Given the description of an element on the screen output the (x, y) to click on. 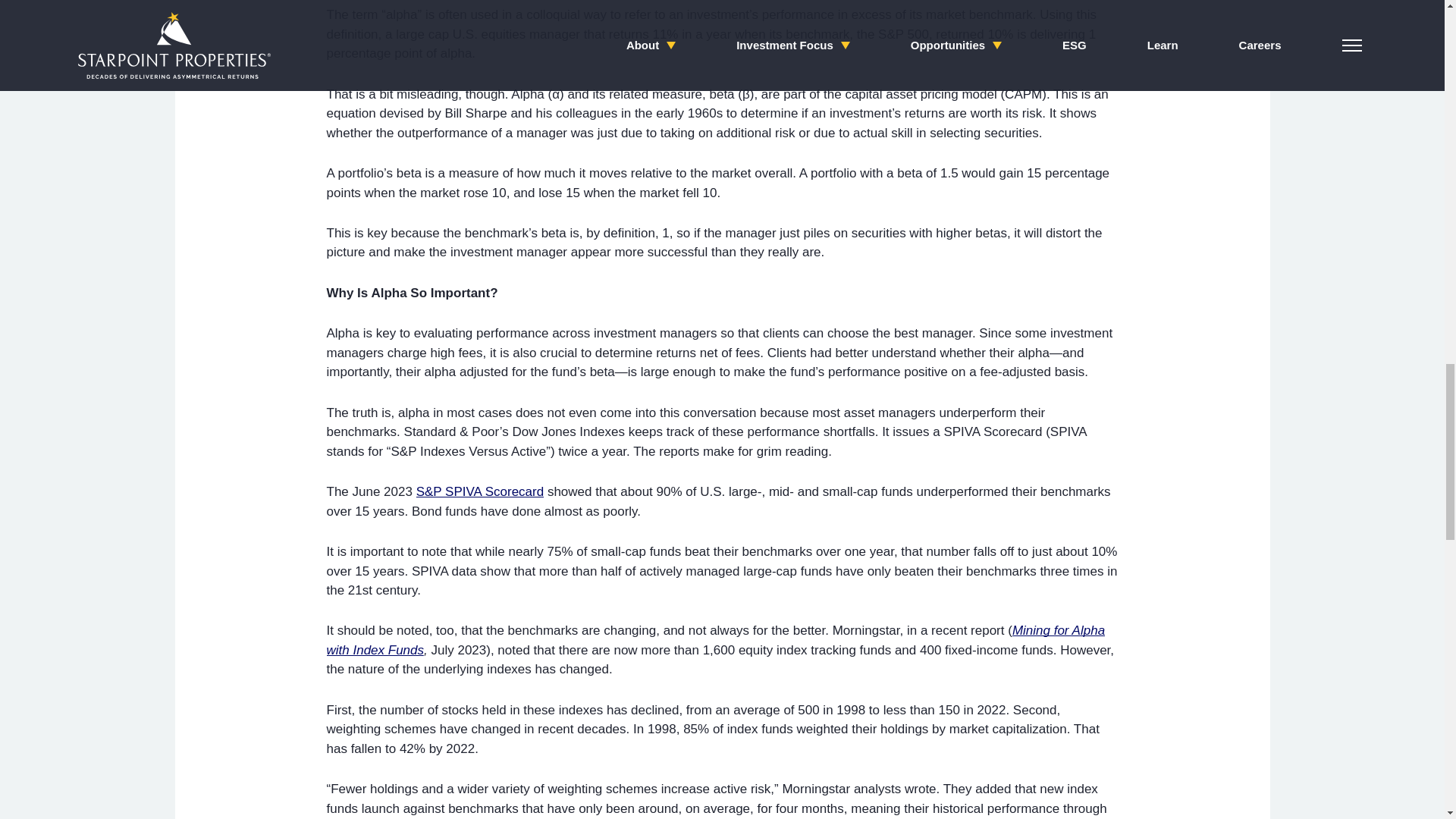
Mining for Alpha with Index Funds (715, 640)
